Given the description of an element on the screen output the (x, y) to click on. 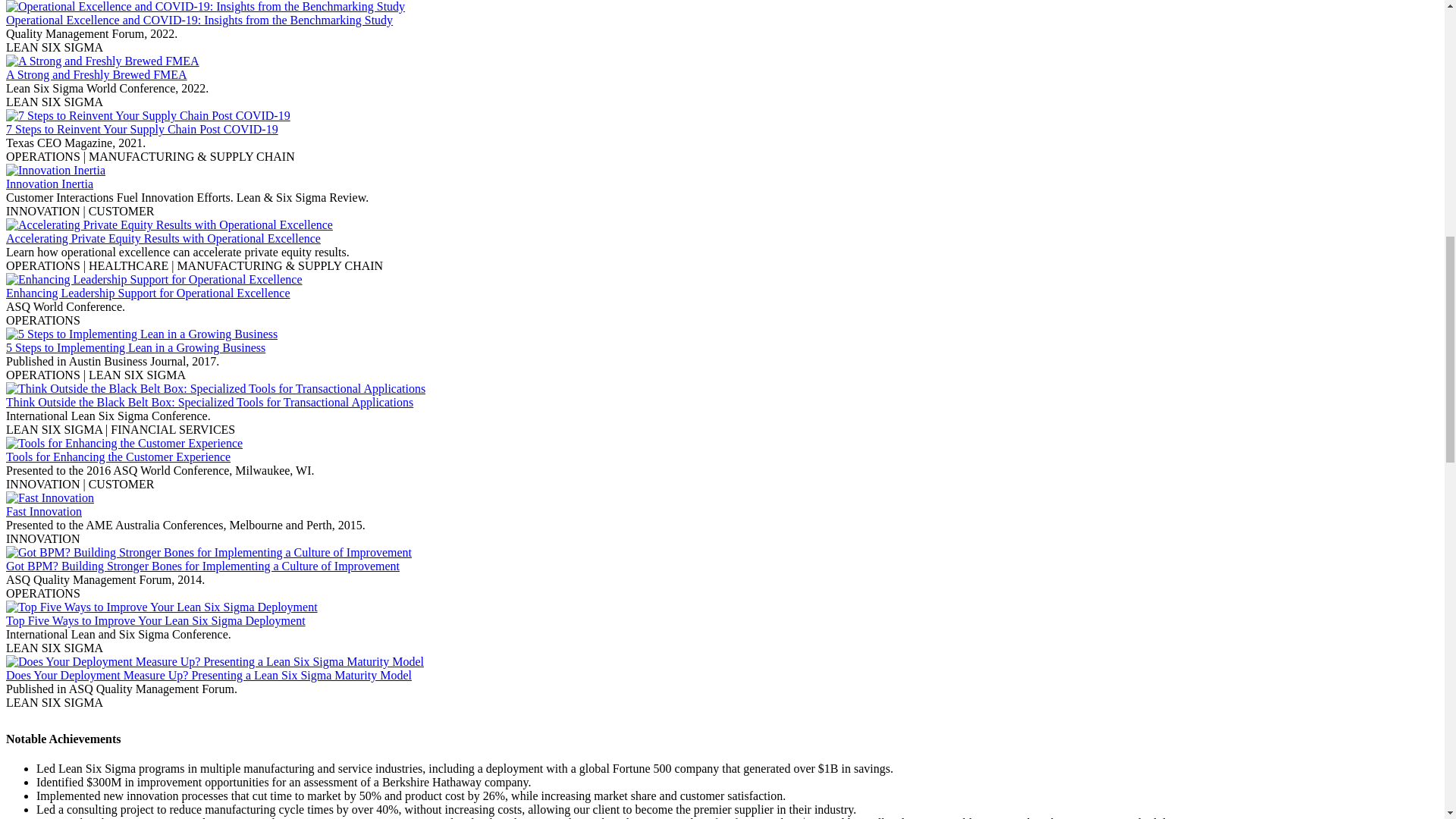
7 Steps to Reinvent Your Supply Chain Post COVID-19 (141, 128)
5 Steps to Implementing Lean in a Growing Business (134, 347)
Top Five Ways to Improve Your Lean Six Sigma Deployment (155, 620)
Tools for Enhancing the Customer Experience (117, 456)
Fast Innovation (43, 511)
Enhancing Leadership Support for Operational Excellence (147, 292)
A Strong and Freshly Brewed FMEA (96, 74)
Innovation Inertia (49, 183)
